Given the description of an element on the screen output the (x, y) to click on. 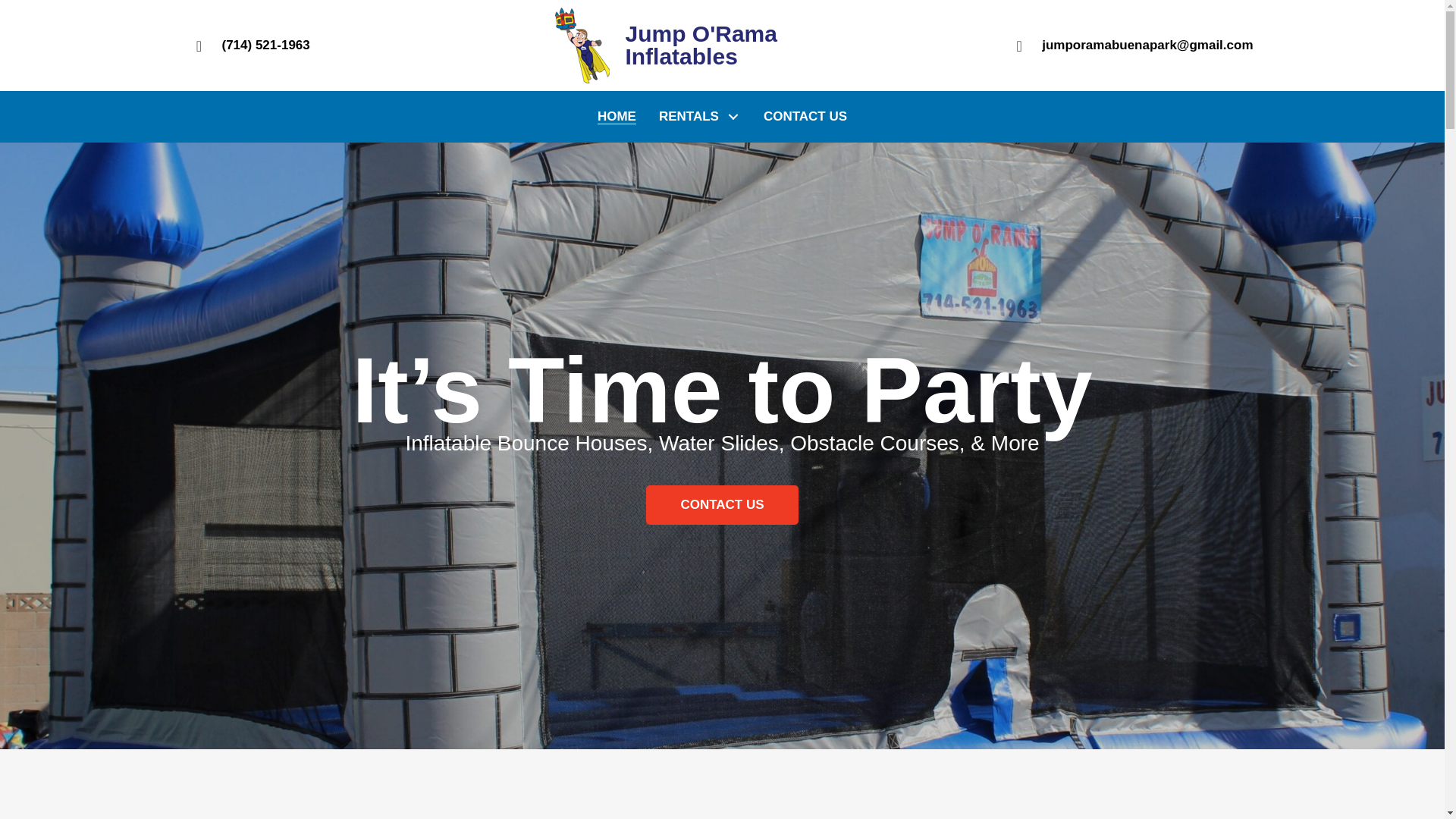
RENTALS (699, 116)
CONTACT US (805, 116)
HOME (616, 116)
CONTACT US (721, 504)
